Given the description of an element on the screen output the (x, y) to click on. 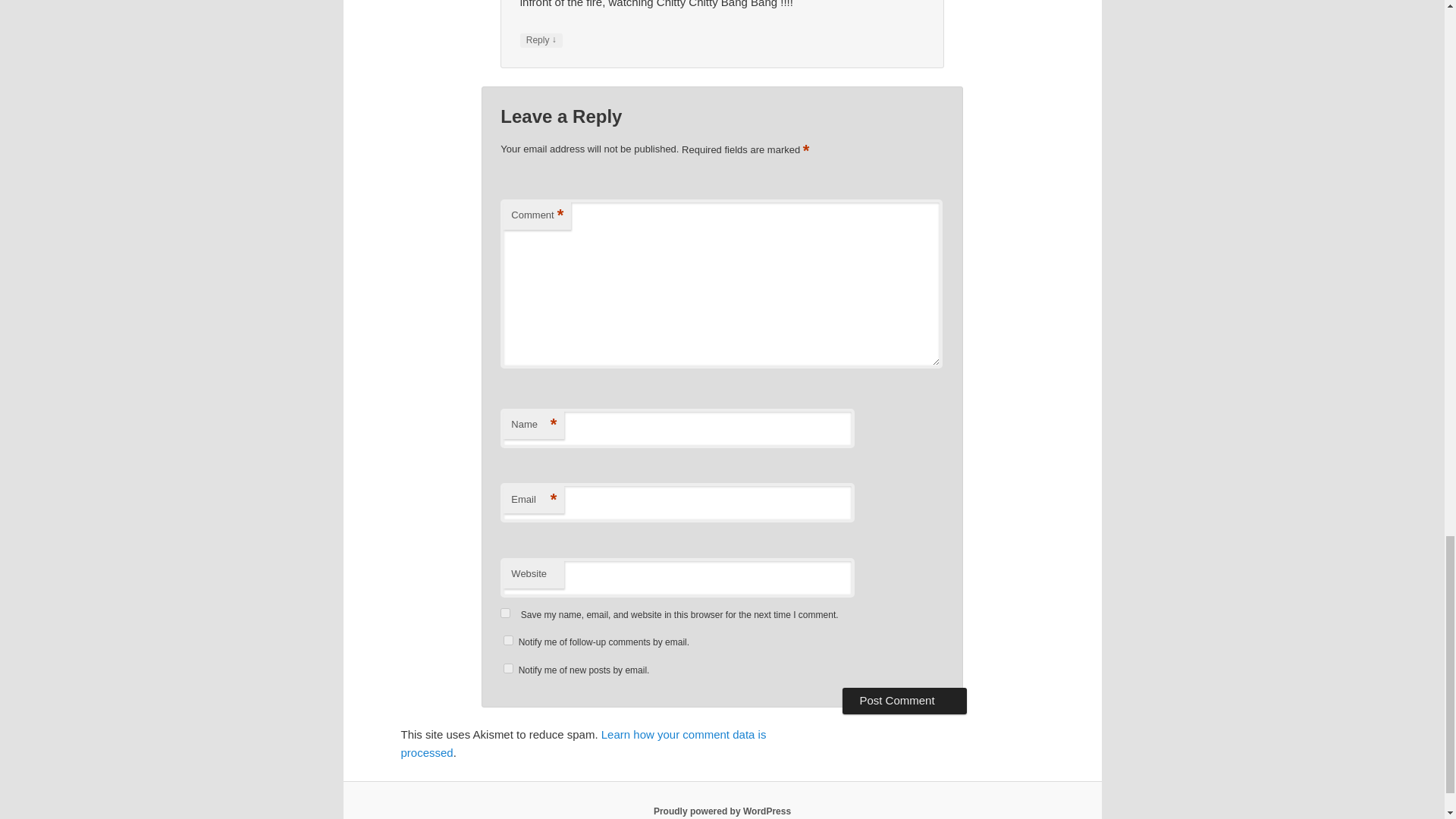
subscribe (508, 640)
Semantic Personal Publishing Platform (721, 810)
subscribe (508, 668)
Post Comment (904, 700)
Proudly powered by WordPress (721, 810)
Learn how your comment data is processed (582, 743)
yes (505, 613)
Post Comment (904, 700)
